Given the description of an element on the screen output the (x, y) to click on. 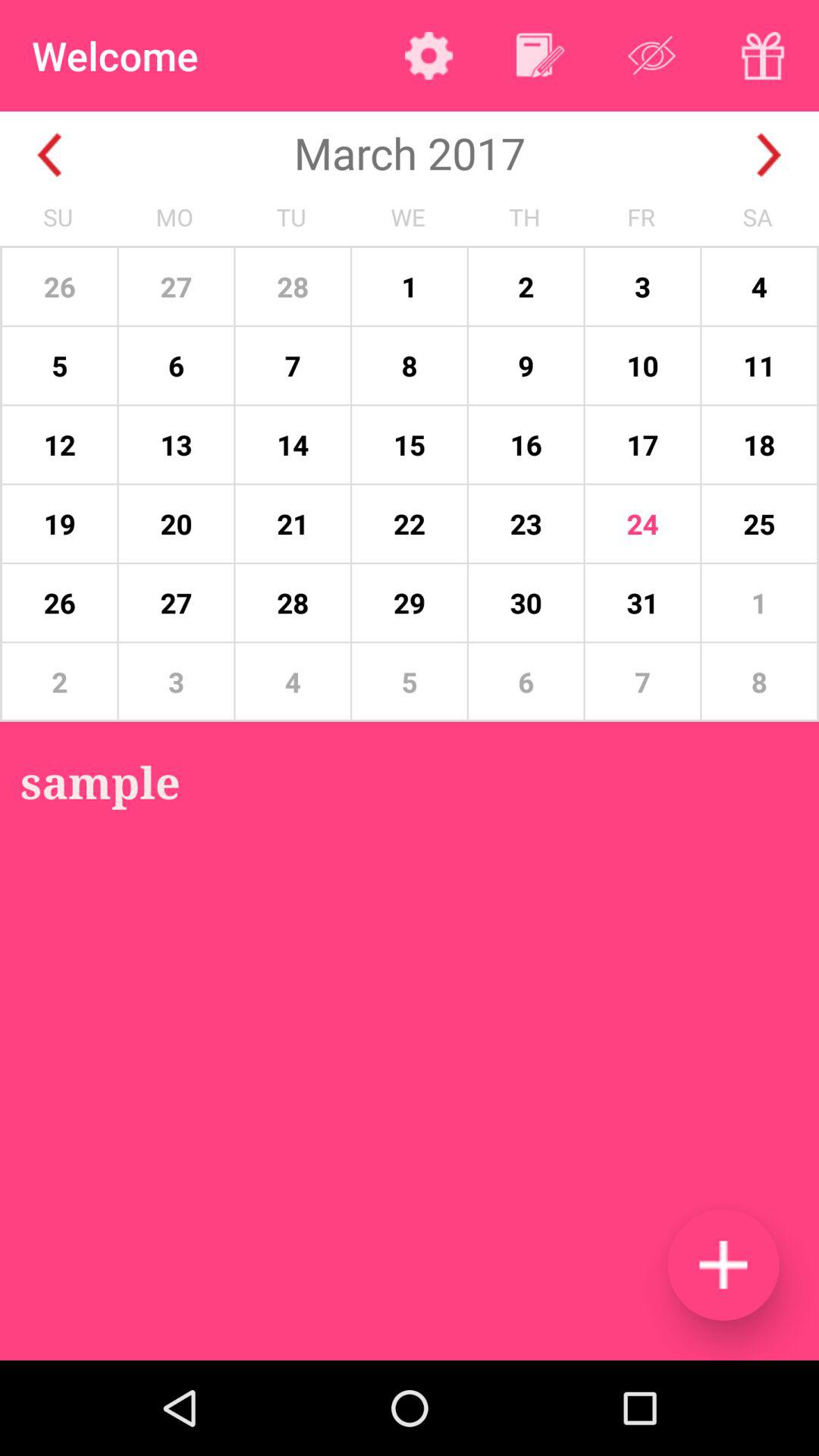
next month arrow (769, 155)
